Given the description of an element on the screen output the (x, y) to click on. 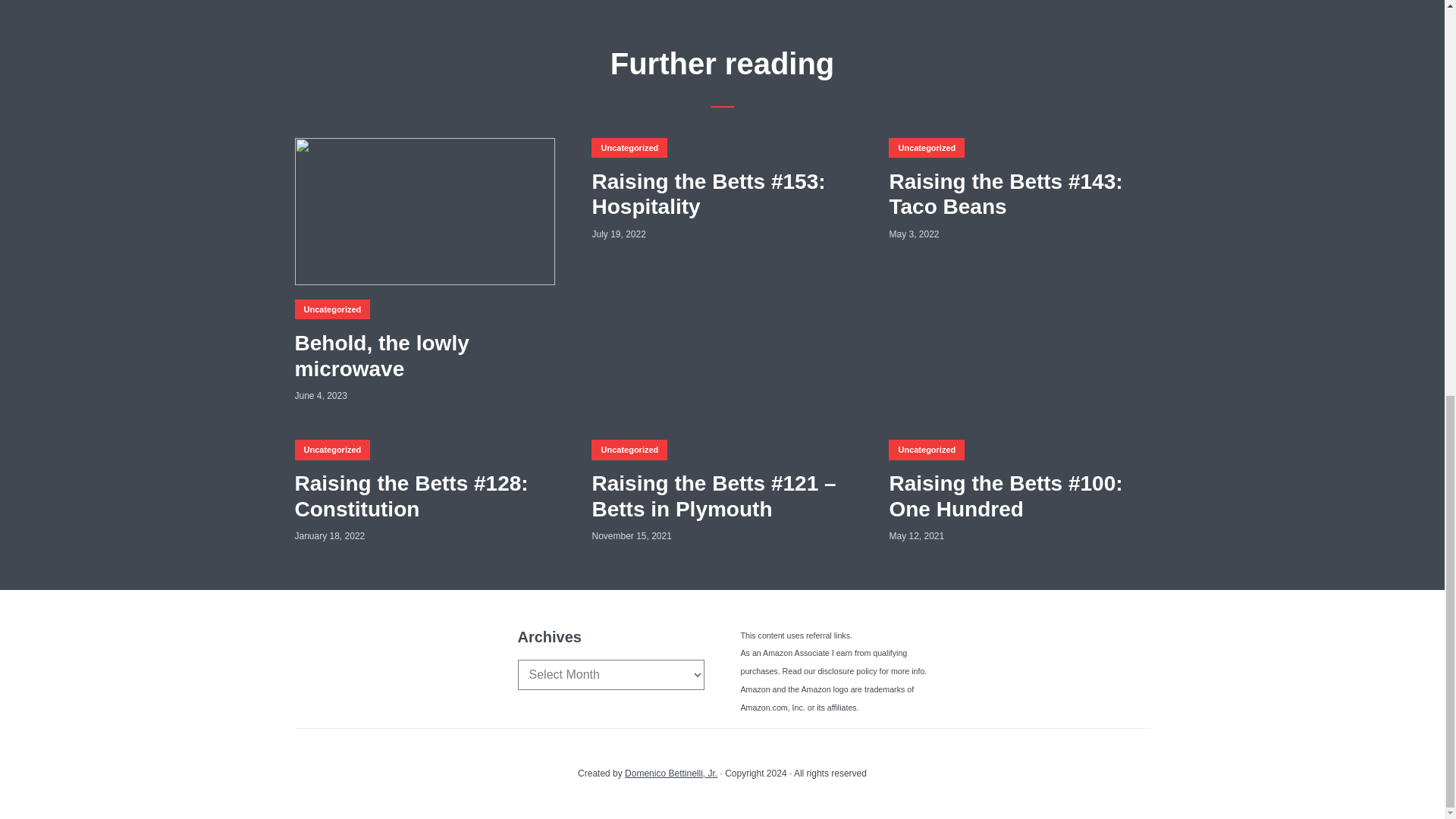
Domenico Bettinelli, Jr. (670, 773)
Uncategorized (331, 449)
disclosure policy (846, 670)
Uncategorized (628, 148)
Uncategorized (331, 309)
Behold, the lowly microwave (424, 355)
Uncategorized (628, 449)
Uncategorized (925, 148)
Uncategorized (925, 449)
